Given the description of an element on the screen output the (x, y) to click on. 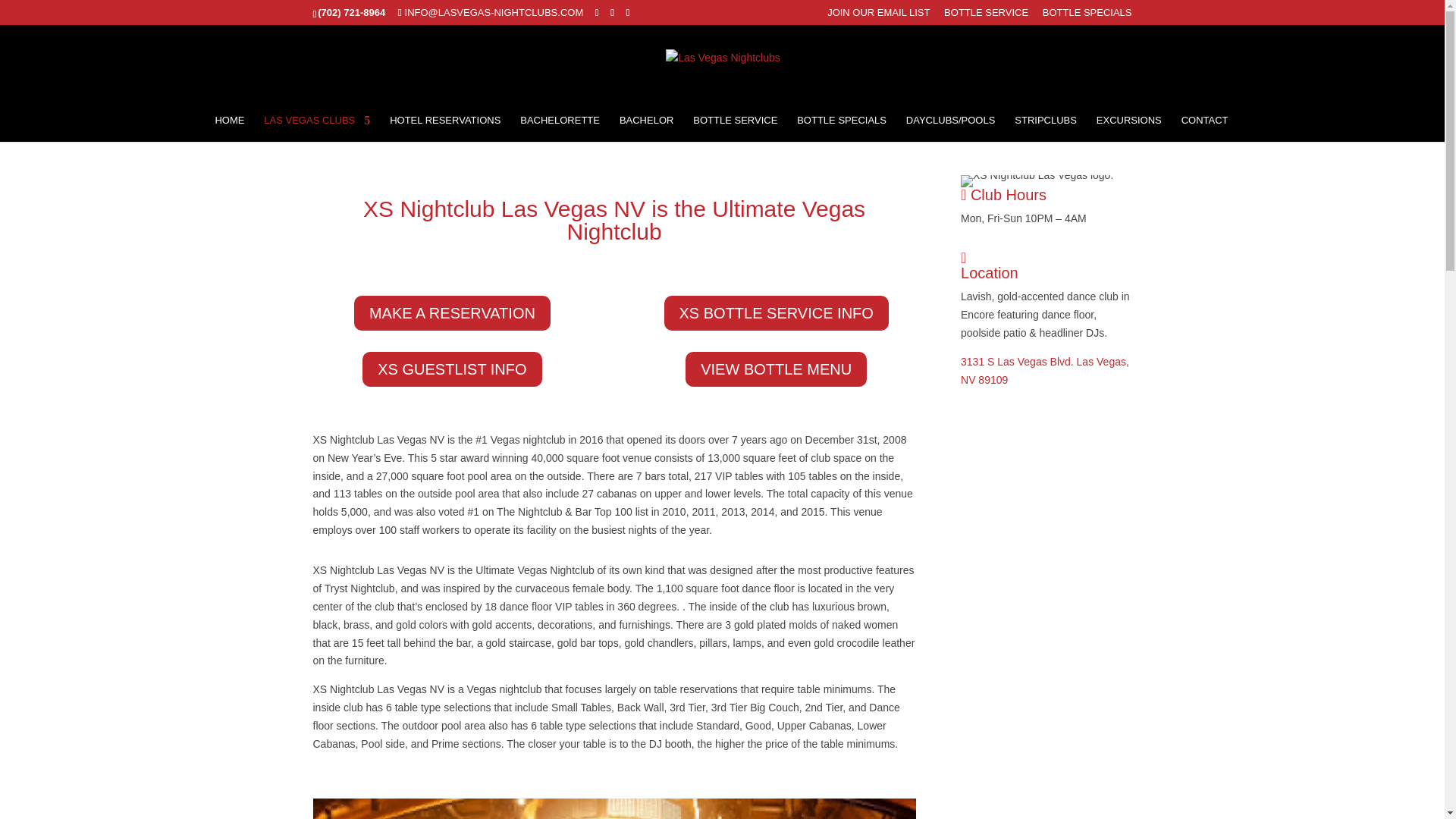
BOTTLE SPECIALS (1087, 16)
BOTTLE SERVICE (985, 16)
LAS VEGAS CLUBS (316, 128)
HOME (229, 128)
JOIN OUR EMAIL LIST (878, 16)
